Given the description of an element on the screen output the (x, y) to click on. 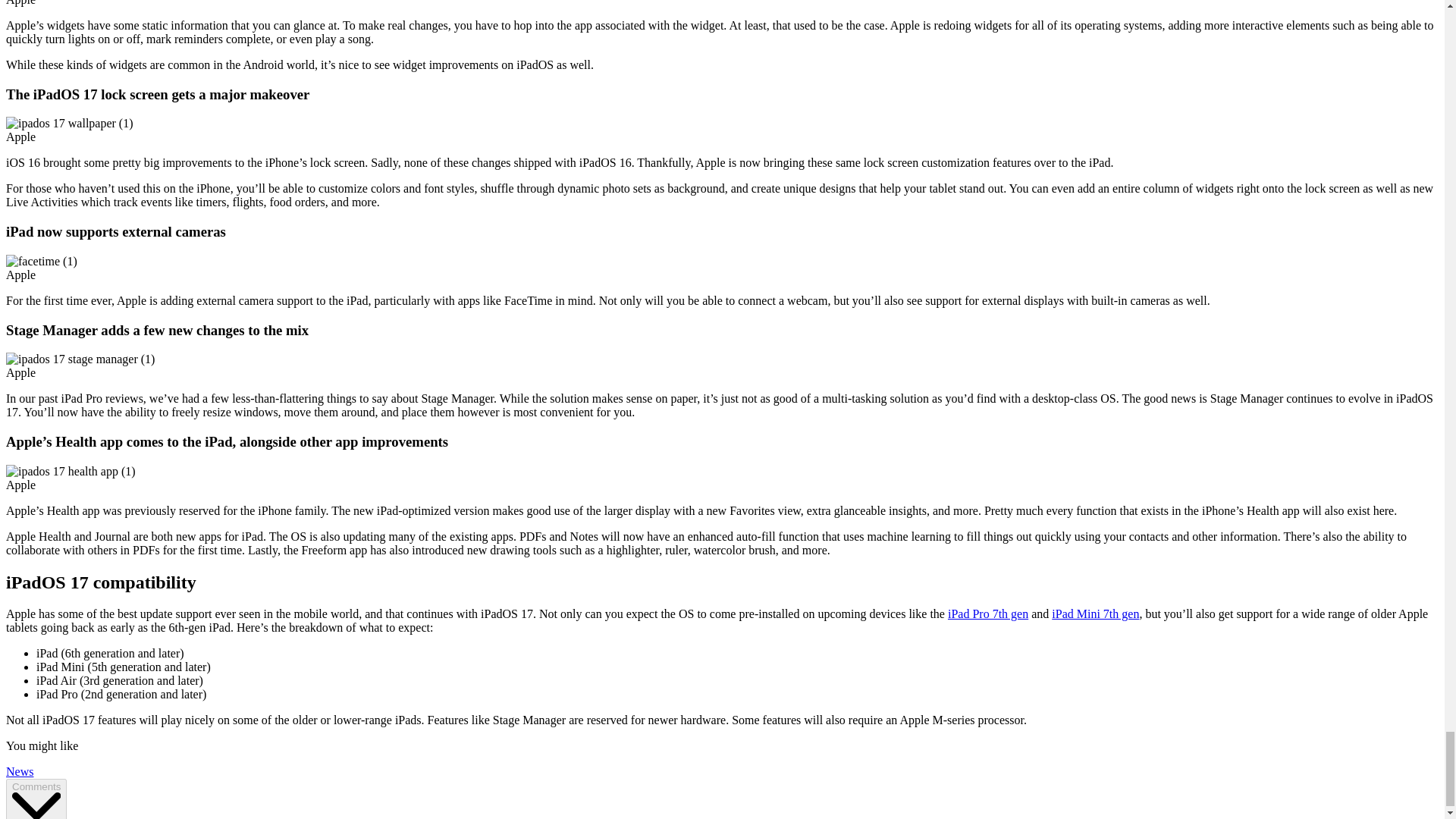
News (19, 771)
iPad Mini 7th gen (1094, 613)
iPad Pro 7th gen (987, 613)
